Given the description of an element on the screen output the (x, y) to click on. 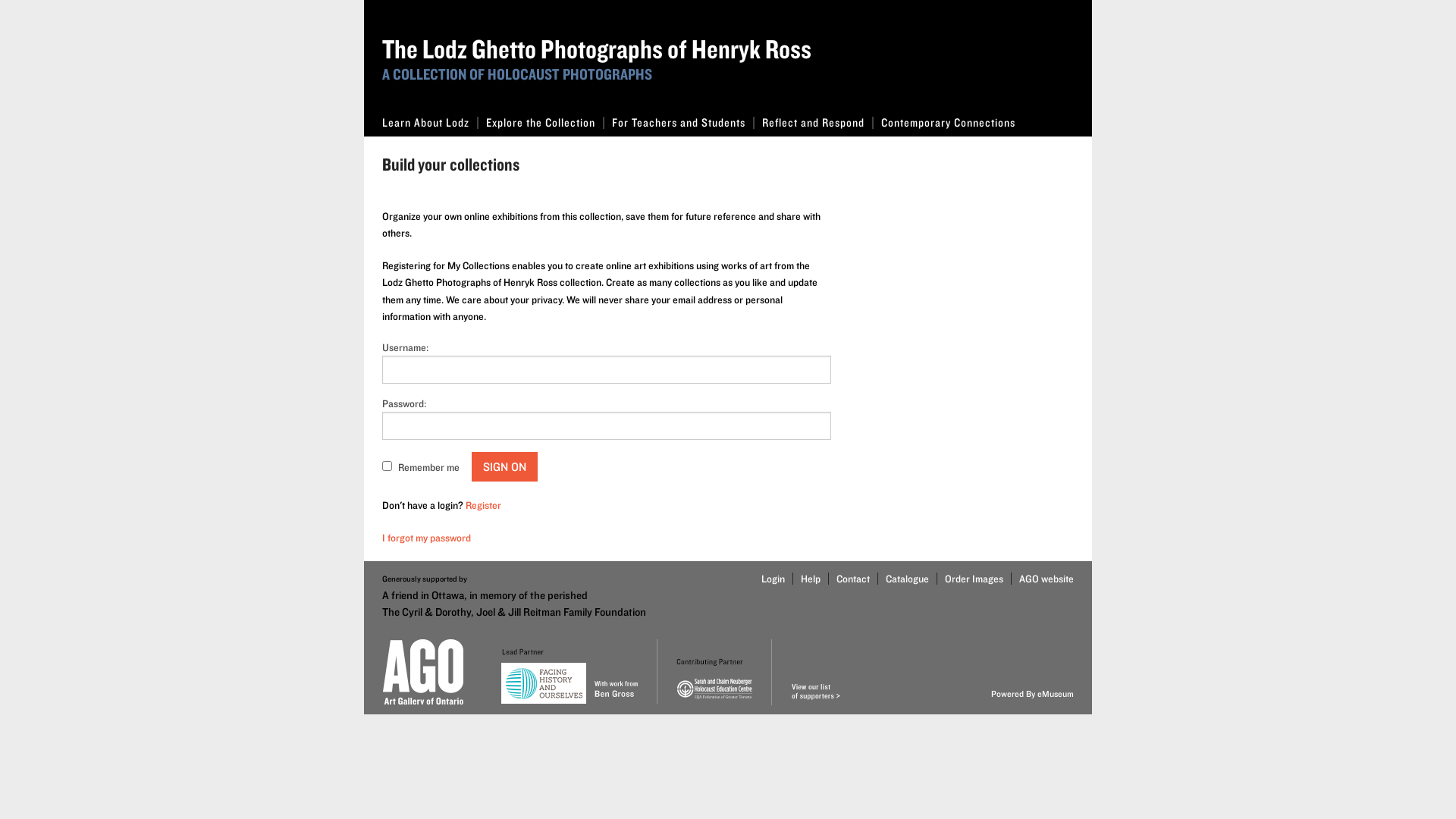
AGO website Element type: text (1041, 578)
Catalogue Element type: text (902, 578)
Learn About Lodz Element type: text (426, 122)
For Teachers and Students Element type: text (679, 122)
Help Element type: text (806, 578)
Contact Element type: text (848, 578)
Powered By eMuseum Element type: text (1032, 693)
I forgot my password Element type: text (426, 537)
Sign on Element type: text (504, 466)
Order Images Element type: text (969, 578)
Explore the Collection Element type: text (541, 122)
Reflect and Respond Element type: text (813, 122)
Login Element type: text (772, 578)
Register Element type: text (483, 504)
Contemporary Connections Element type: text (947, 122)
